Given the description of an element on the screen output the (x, y) to click on. 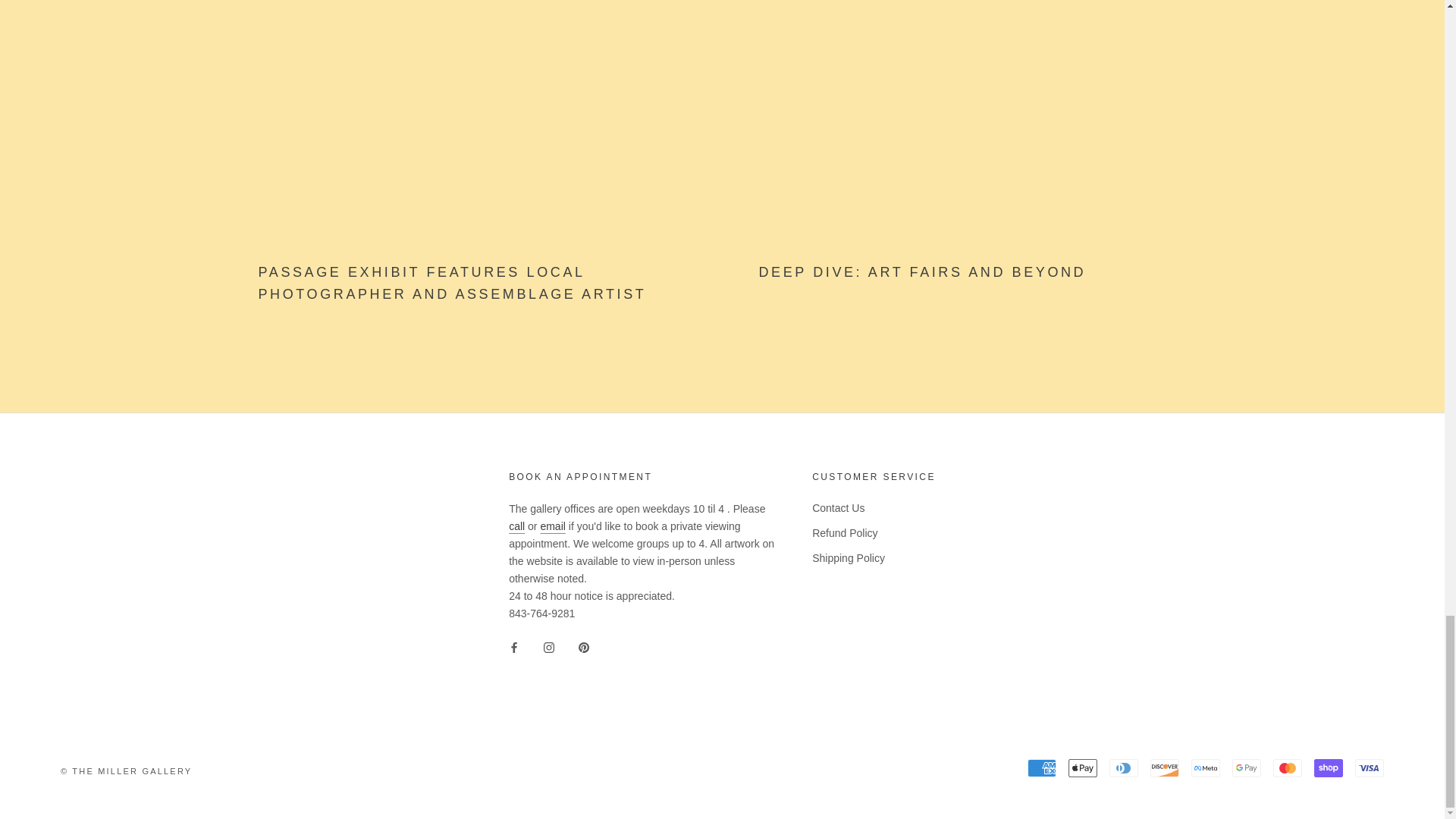
American Express (1042, 768)
Meta Pay (1205, 768)
tel:8437649281 (516, 526)
Visa (1369, 768)
Shop Pay (1328, 768)
Apple Pay (1082, 768)
Discover (1164, 768)
Diners Club (1123, 768)
Google Pay (1245, 768)
Mastercard (1286, 768)
